Given the description of an element on the screen output the (x, y) to click on. 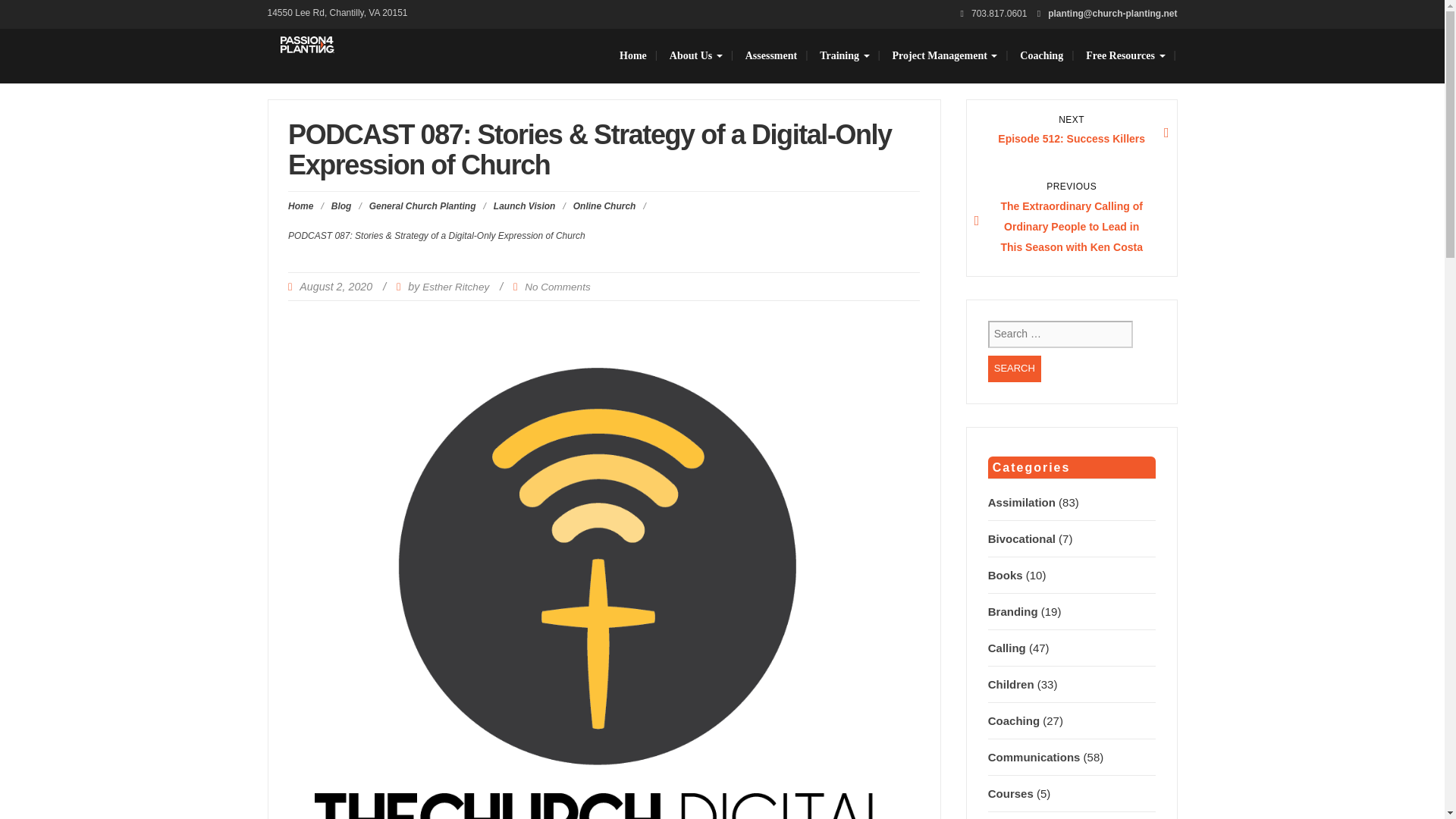
Project Management (944, 55)
Search (1014, 368)
Blog (341, 205)
Coaching (1041, 55)
About Us (695, 55)
Free Resources (1125, 55)
Online Church (604, 205)
Project Management (944, 55)
Launch Vision (524, 205)
Assessment (770, 55)
No Comments (556, 286)
Assessment (770, 55)
Home (633, 55)
About Us (695, 55)
Esther Ritchey (455, 286)
